Given the description of an element on the screen output the (x, y) to click on. 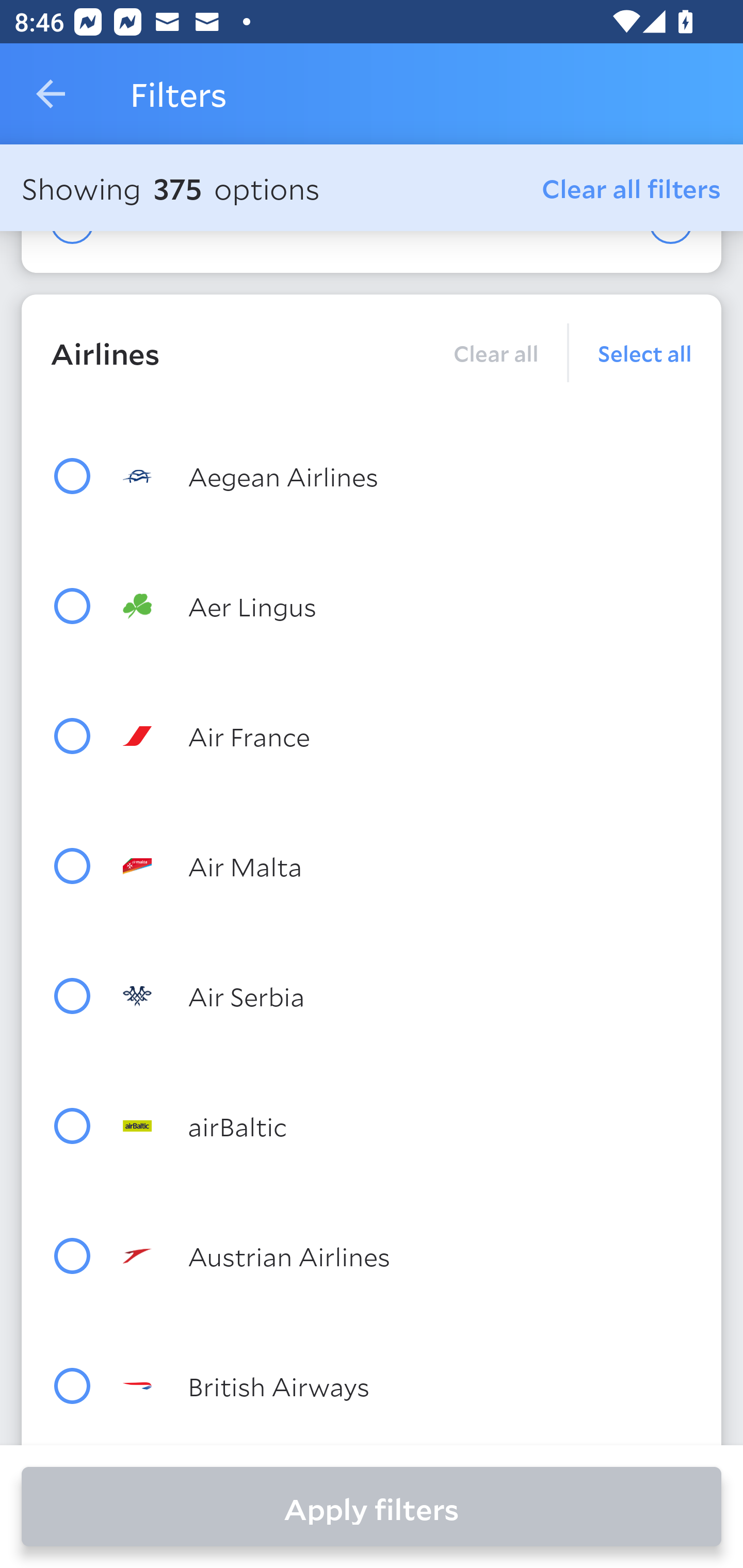
Navigate up (50, 93)
Clear all filters (631, 187)
Clear all (495, 352)
Select all (630, 352)
Aegean Airlines (407, 475)
Aer Lingus (407, 605)
Air France (407, 735)
Air Malta (407, 865)
Air Serbia (407, 995)
airBaltic (407, 1125)
Austrian Airlines (407, 1255)
British Airways (407, 1385)
Apply filters (371, 1506)
